Given the description of an element on the screen output the (x, y) to click on. 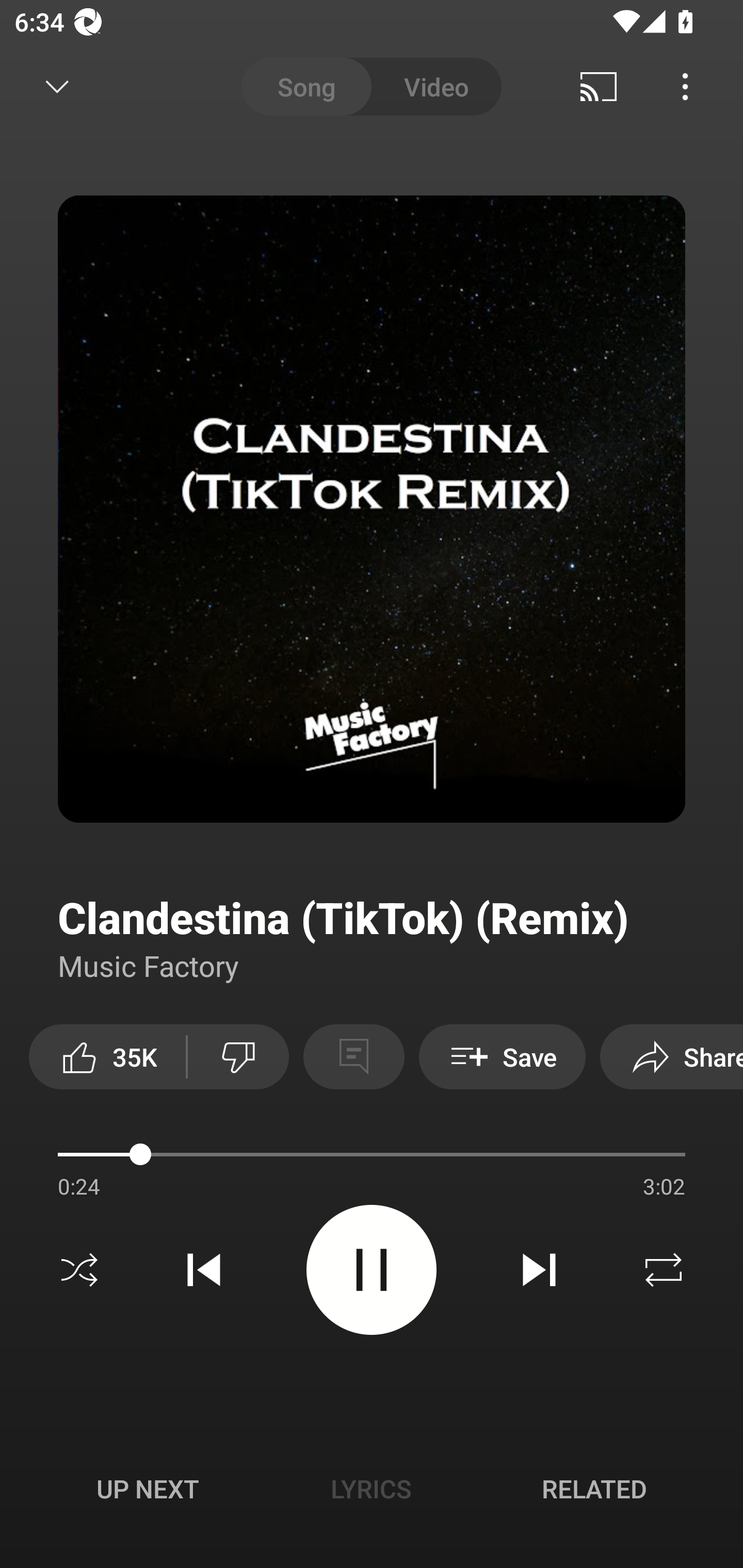
Minimize (57, 86)
Cast. Disconnected (598, 86)
Menu (684, 86)
Music Factory (148, 964)
35K like this video along with 35,710 other people (106, 1056)
Dislike (238, 1056)
Comments disabled. (353, 1056)
Save Save to playlist (502, 1056)
Share (671, 1056)
Pause video (371, 1269)
Shuffle off (79, 1269)
Previous track (203, 1269)
Next track (538, 1269)
Repeat off (663, 1269)
Up next UP NEXT Lyrics LYRICS Related RELATED (371, 1491)
Lyrics LYRICS (370, 1488)
Related RELATED (594, 1488)
